Given the description of an element on the screen output the (x, y) to click on. 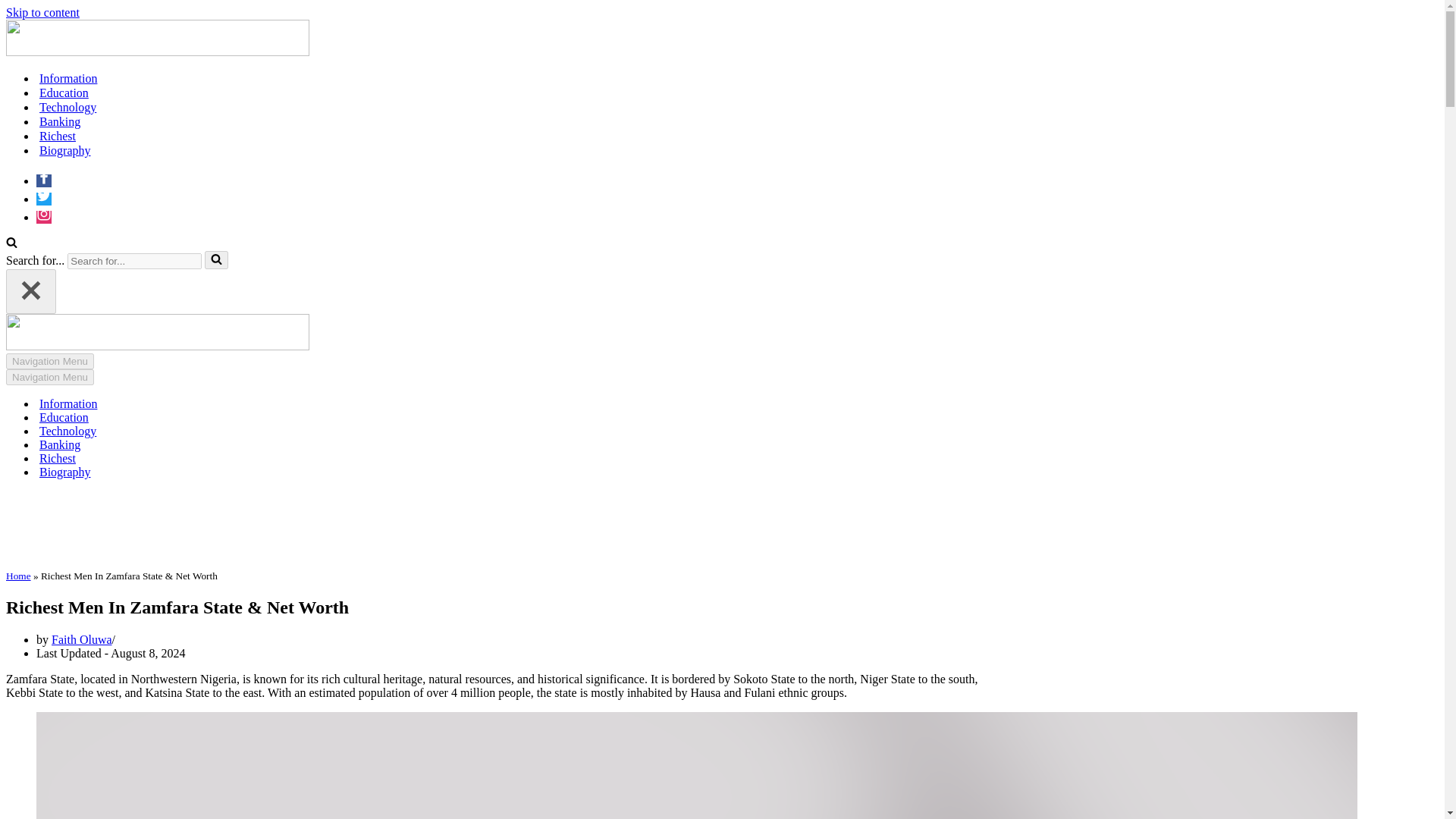
Instagram (43, 216)
Information (68, 404)
Faith Oluwa (81, 639)
Education (63, 418)
Navigation Menu (49, 376)
Banking (59, 121)
Technology (67, 106)
Skip to content (42, 11)
Education (63, 92)
Facebook (43, 180)
